Given the description of an element on the screen output the (x, y) to click on. 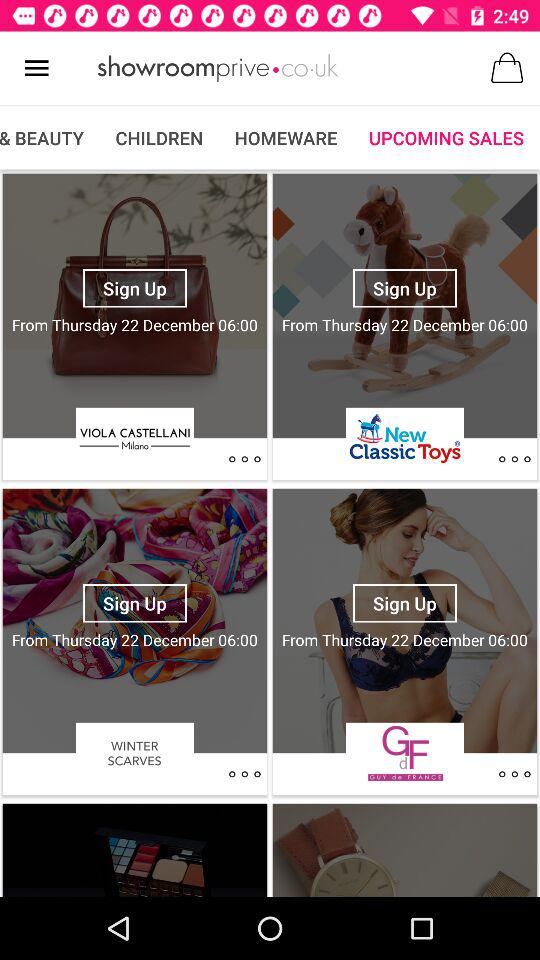
click details (514, 774)
